Given the description of an element on the screen output the (x, y) to click on. 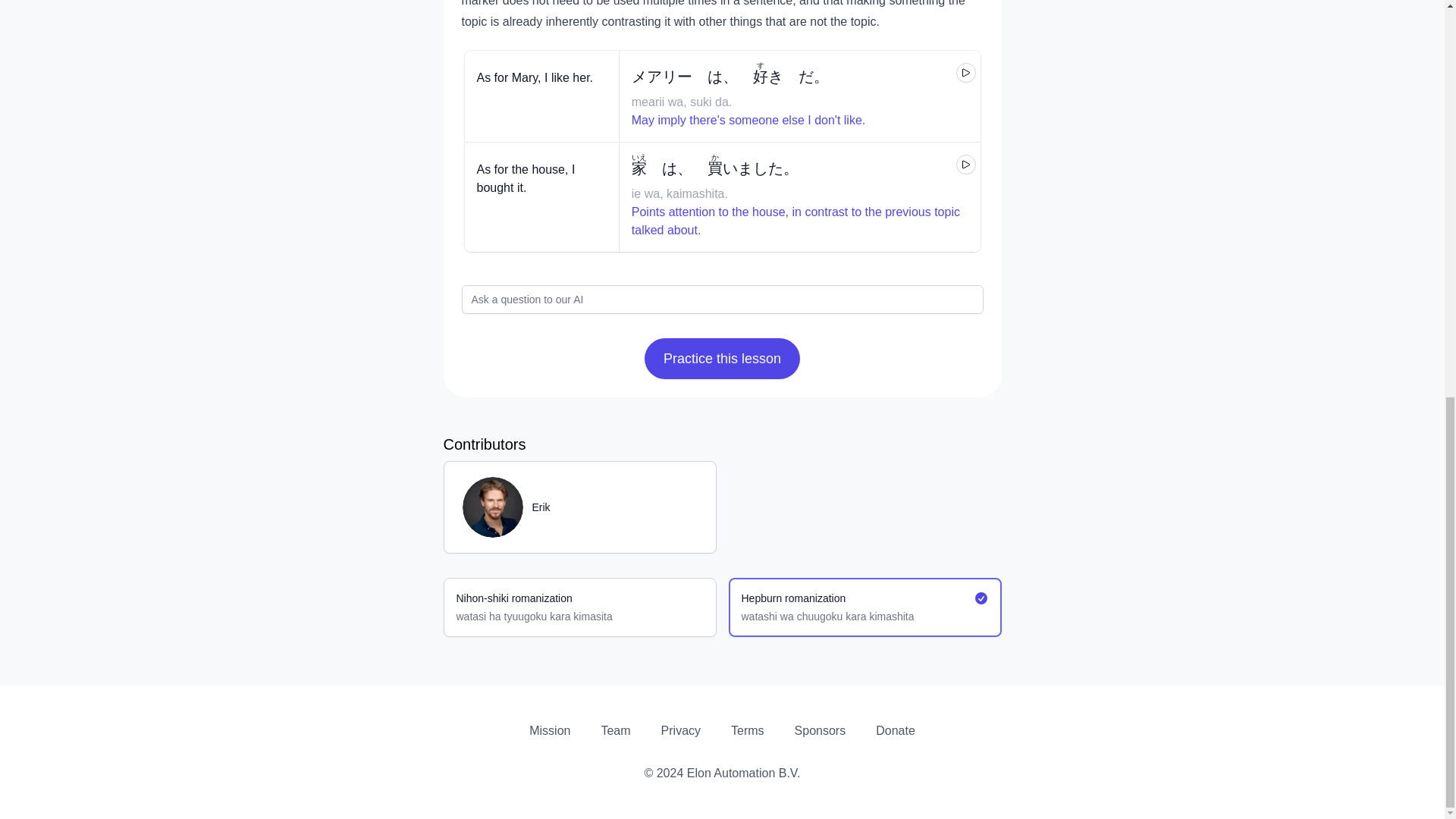
Practice this lesson (722, 358)
Donate (895, 730)
Erik (614, 507)
Team (614, 730)
Mission (549, 730)
Privacy (680, 730)
Terms (747, 730)
Sponsors (819, 730)
